Given the description of an element on the screen output the (x, y) to click on. 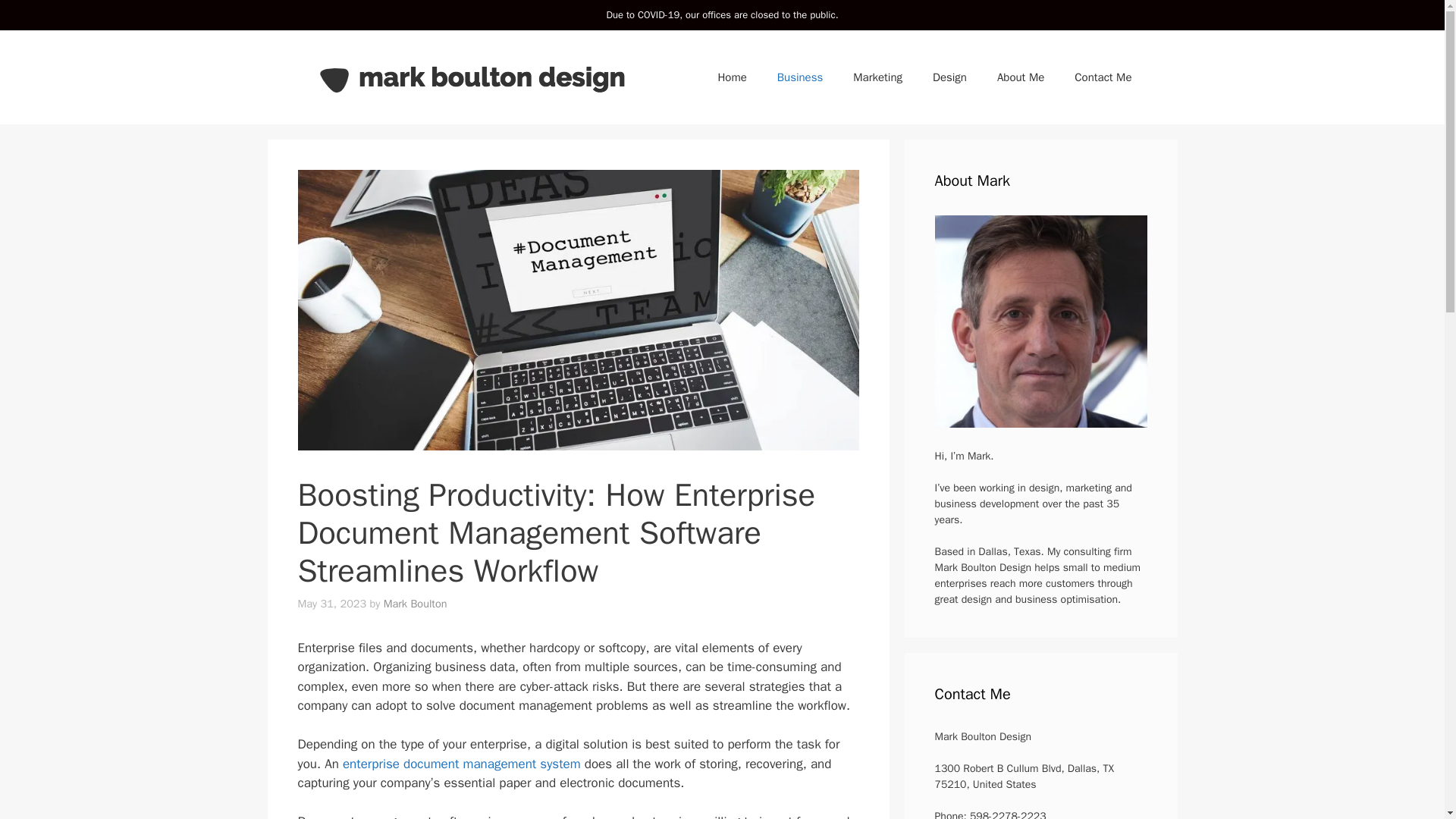
Home (731, 76)
Contact Me (1103, 76)
About Me (1020, 76)
View all posts by Mark Boulton (415, 603)
Marketing (877, 76)
Mark Boulton (415, 603)
Design (949, 76)
enterprise document management system (461, 763)
Business (799, 76)
